Given the description of an element on the screen output the (x, y) to click on. 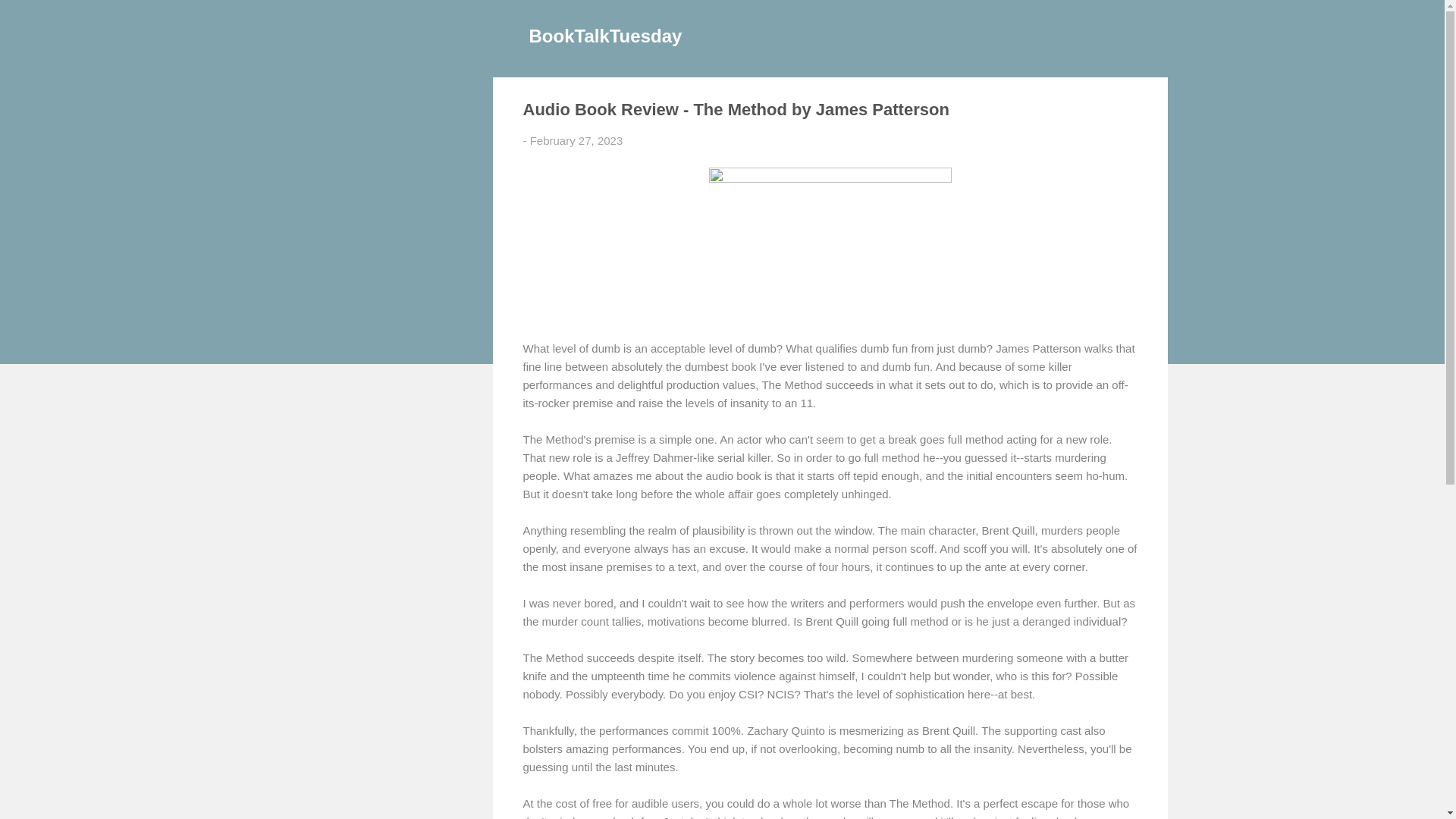
BookTalkTuesday (605, 35)
February 27, 2023 (576, 140)
permanent link (576, 140)
Search (29, 18)
